Given the description of an element on the screen output the (x, y) to click on. 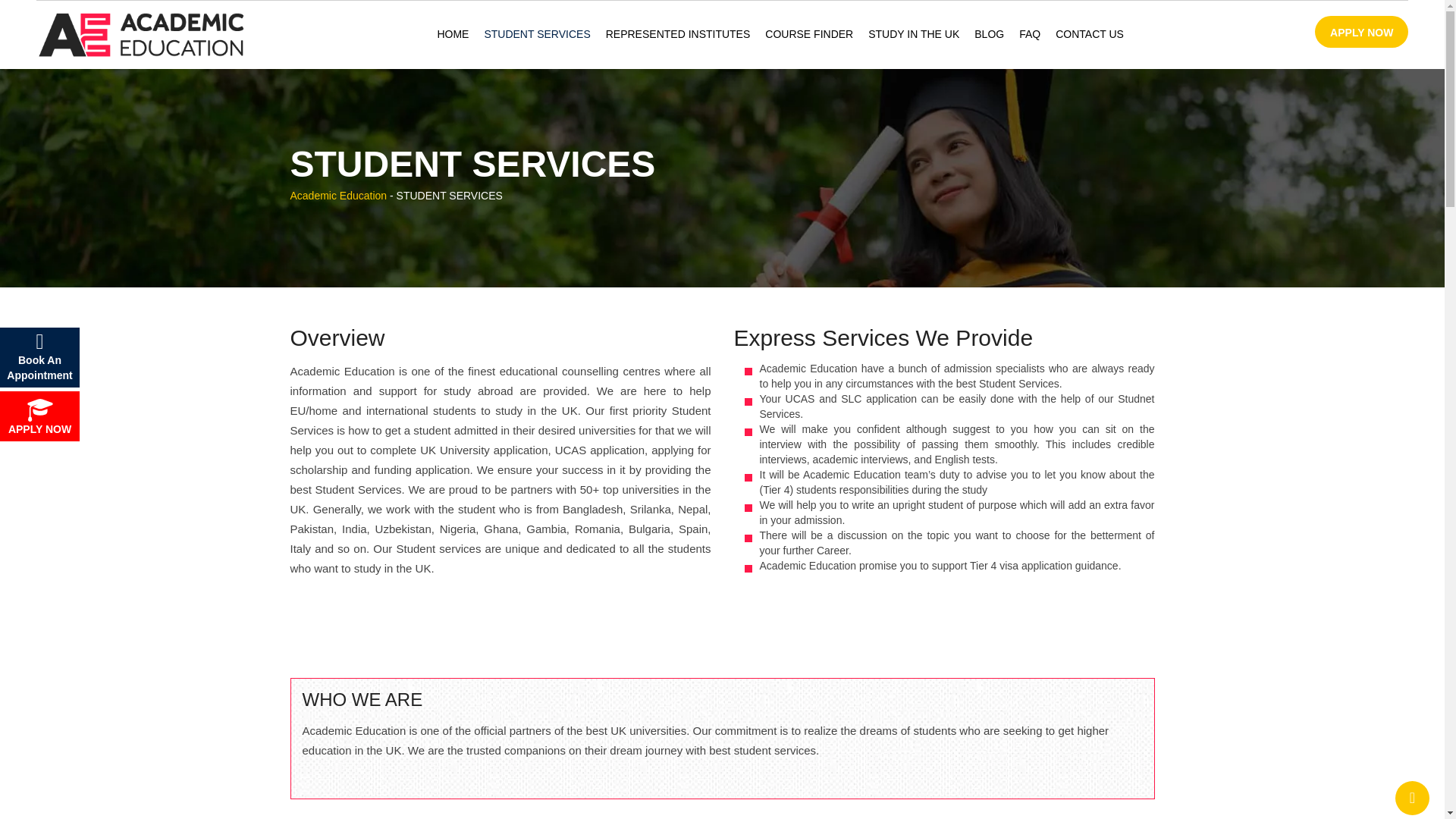
APPLY NOW (40, 416)
COURSE FINDER (808, 33)
CONTACT US (1089, 33)
Book An Appointment (40, 357)
REPRESENTED INSTITUTES (678, 33)
Academic Education (338, 195)
STUDENT SERVICES (536, 33)
APPLY NOW (1360, 31)
STUDY IN THE UK (913, 33)
Go to Academic Education. (338, 195)
